Given the description of an element on the screen output the (x, y) to click on. 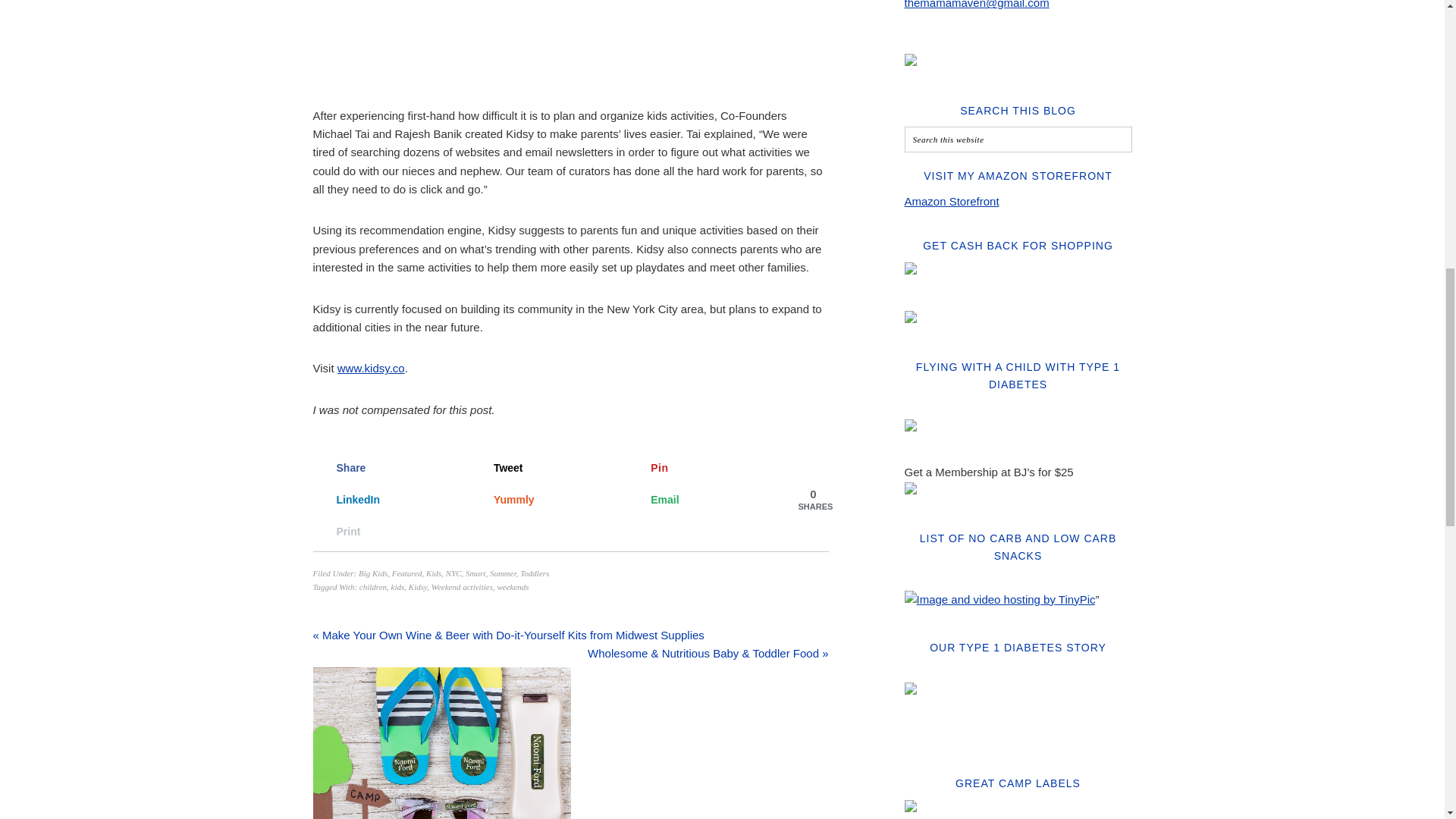
Print this webpage (386, 531)
Share (386, 467)
Save to Pinterest (700, 467)
Share on Facebook (386, 467)
www.kidsy.co (370, 367)
Share on Yummly (543, 499)
Share on LinkedIn (386, 499)
Send over email (700, 499)
